Given the description of an element on the screen output the (x, y) to click on. 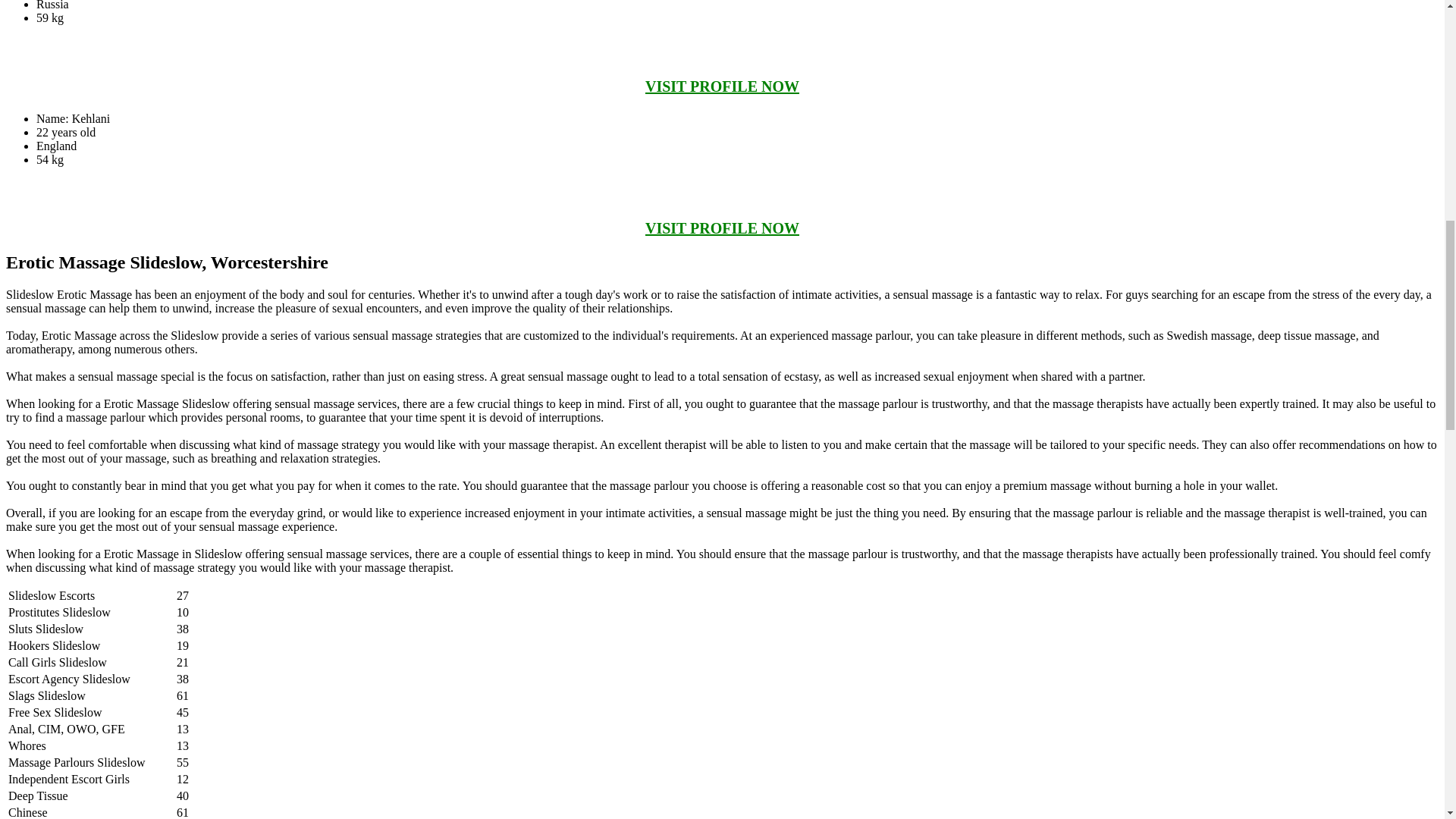
VISIT PROFILE NOW (722, 228)
VISIT PROFILE NOW (722, 86)
